Given the description of an element on the screen output the (x, y) to click on. 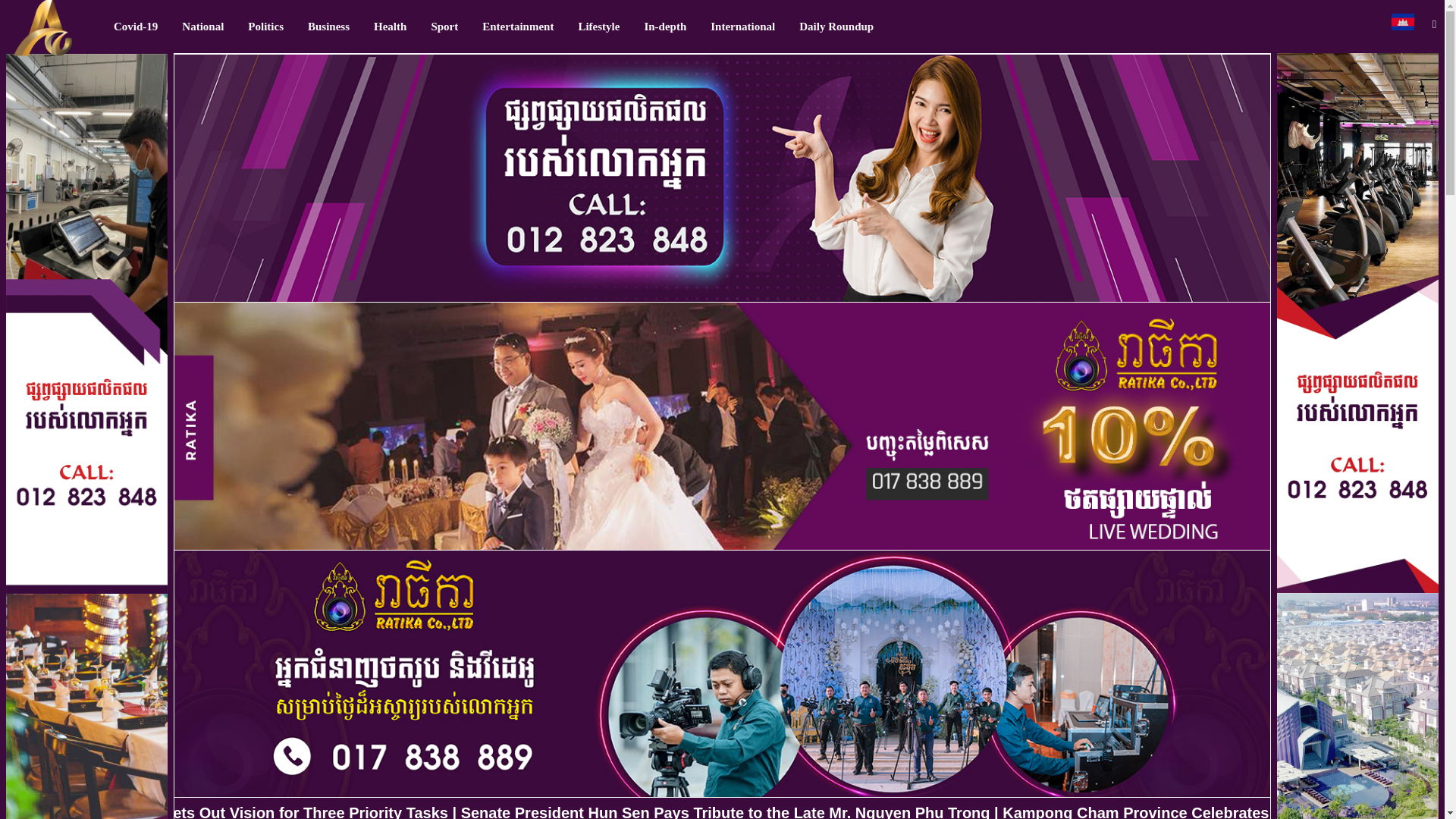
Health (390, 27)
National (202, 27)
Politics (265, 27)
Covid-19 (135, 27)
Sport (444, 27)
In-depth (664, 27)
Lifestyle (598, 27)
Entertainment (518, 27)
Business (328, 27)
